Given the description of an element on the screen output the (x, y) to click on. 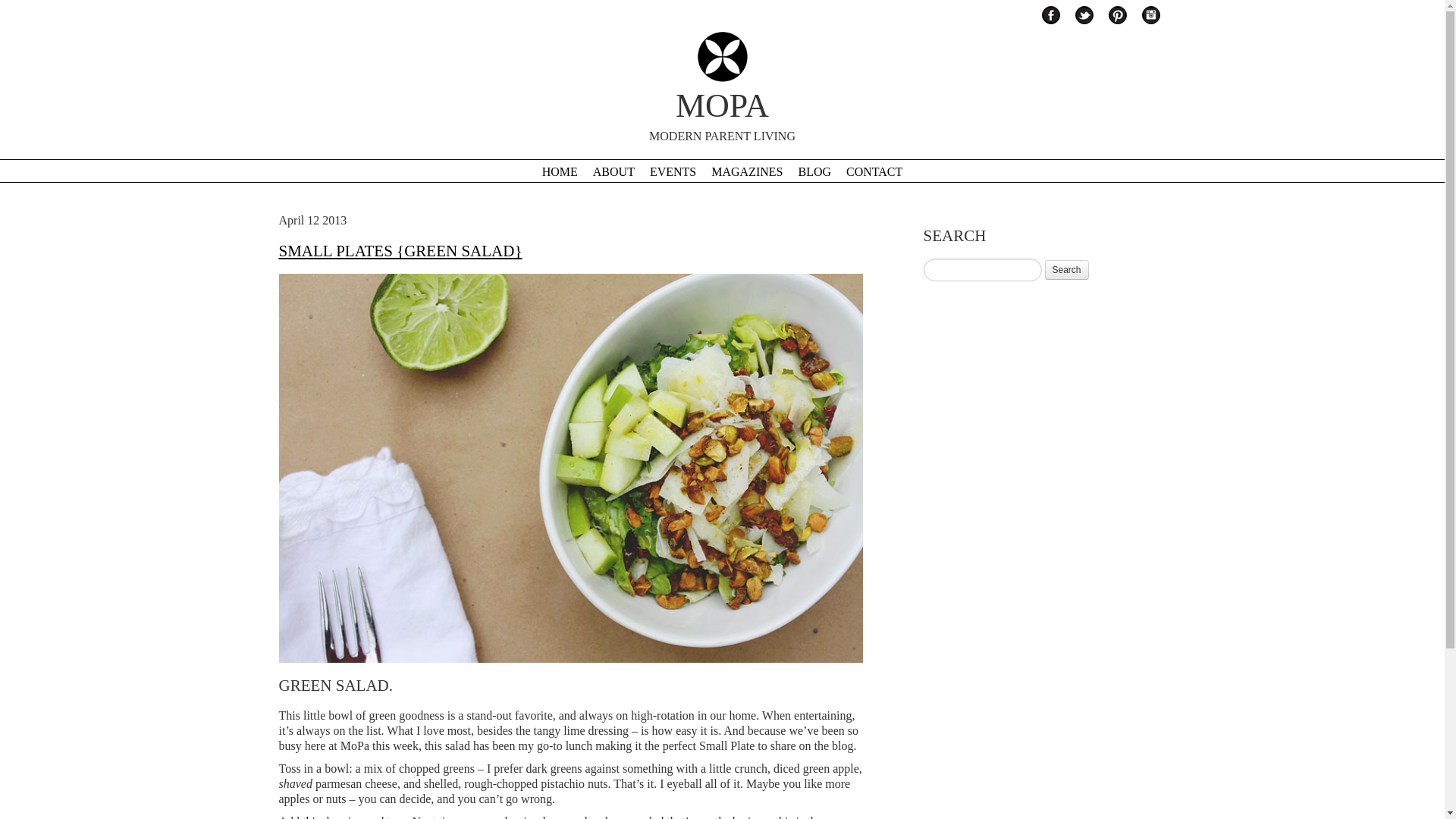
MAGAZINES (747, 171)
Search (1067, 270)
CONTACT (722, 90)
BLOG (873, 171)
this (814, 171)
EVENTS (311, 816)
ABOUT (672, 171)
Search (613, 171)
